Given the description of an element on the screen output the (x, y) to click on. 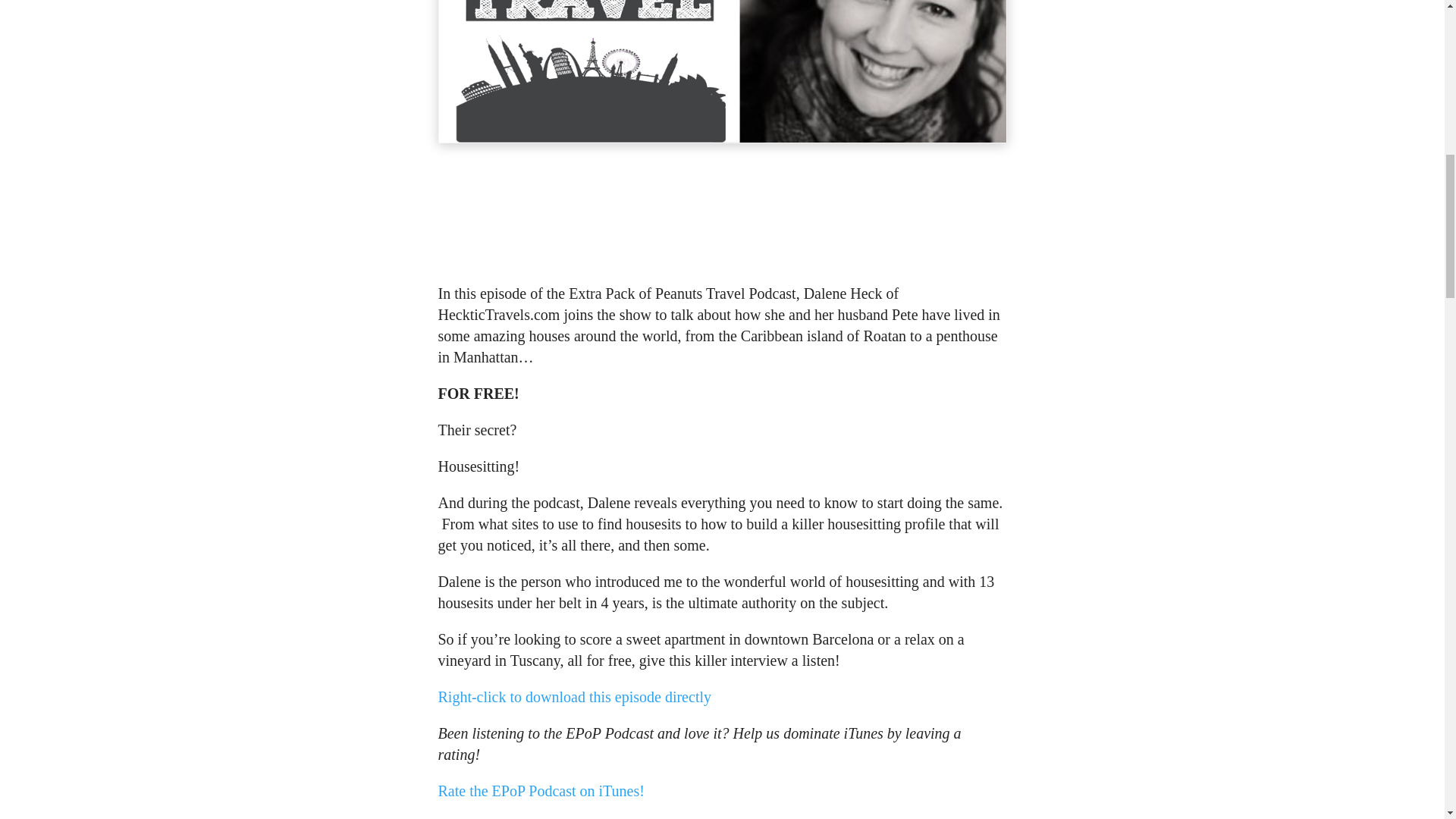
Rate the EPoP Podcast on iTunes! (541, 790)
Right-click to download this episode directly (574, 696)
Dalene Heck on How To Live Rent Free Around the World (722, 215)
